Given the description of an element on the screen output the (x, y) to click on. 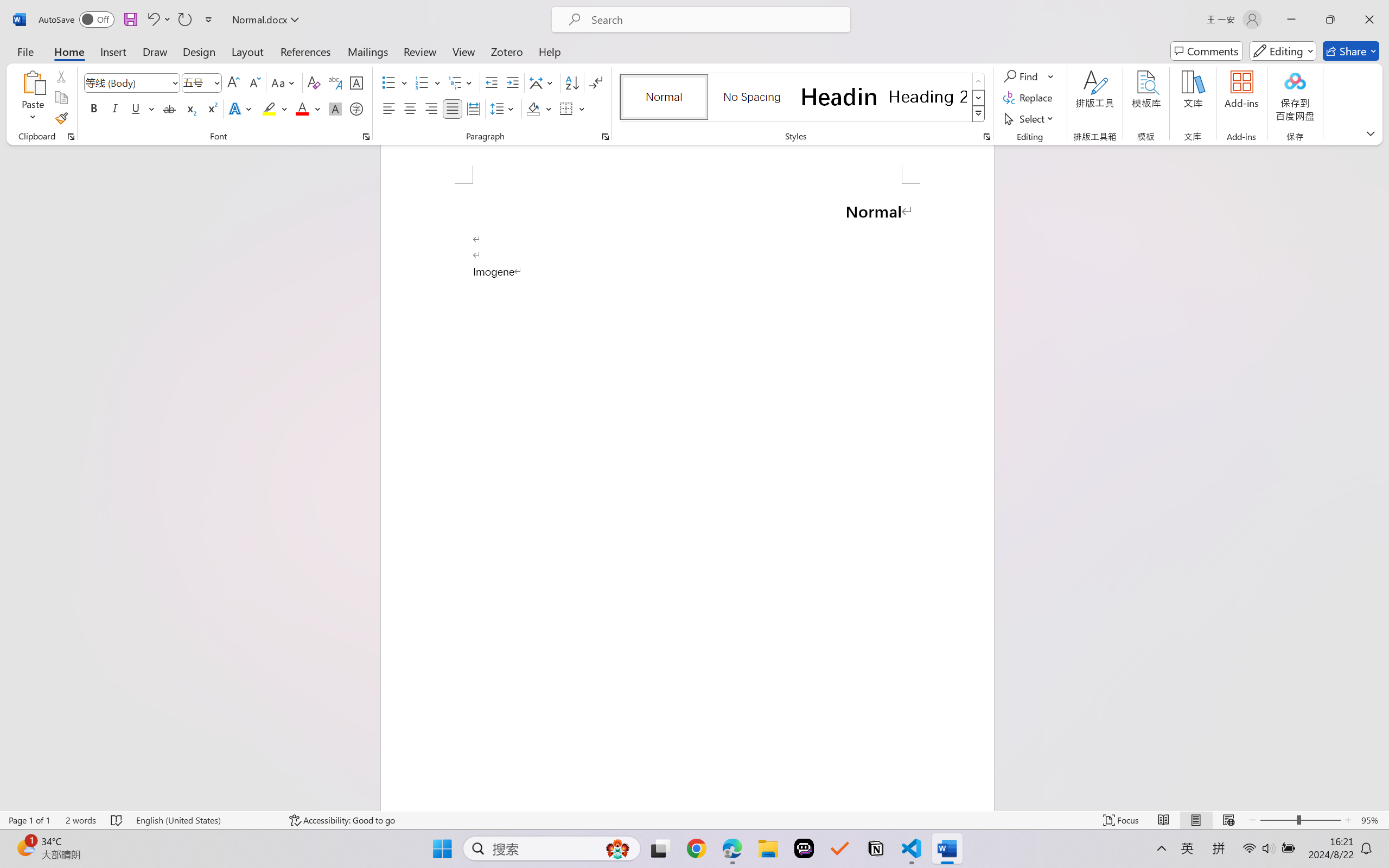
Select (1030, 118)
Help (549, 51)
Character Shading (334, 108)
Enclose Characters... (356, 108)
Repeat Style (184, 19)
Justify (452, 108)
Align Left (388, 108)
AutomationID: QuickStylesGallery (802, 97)
